Given the description of an element on the screen output the (x, y) to click on. 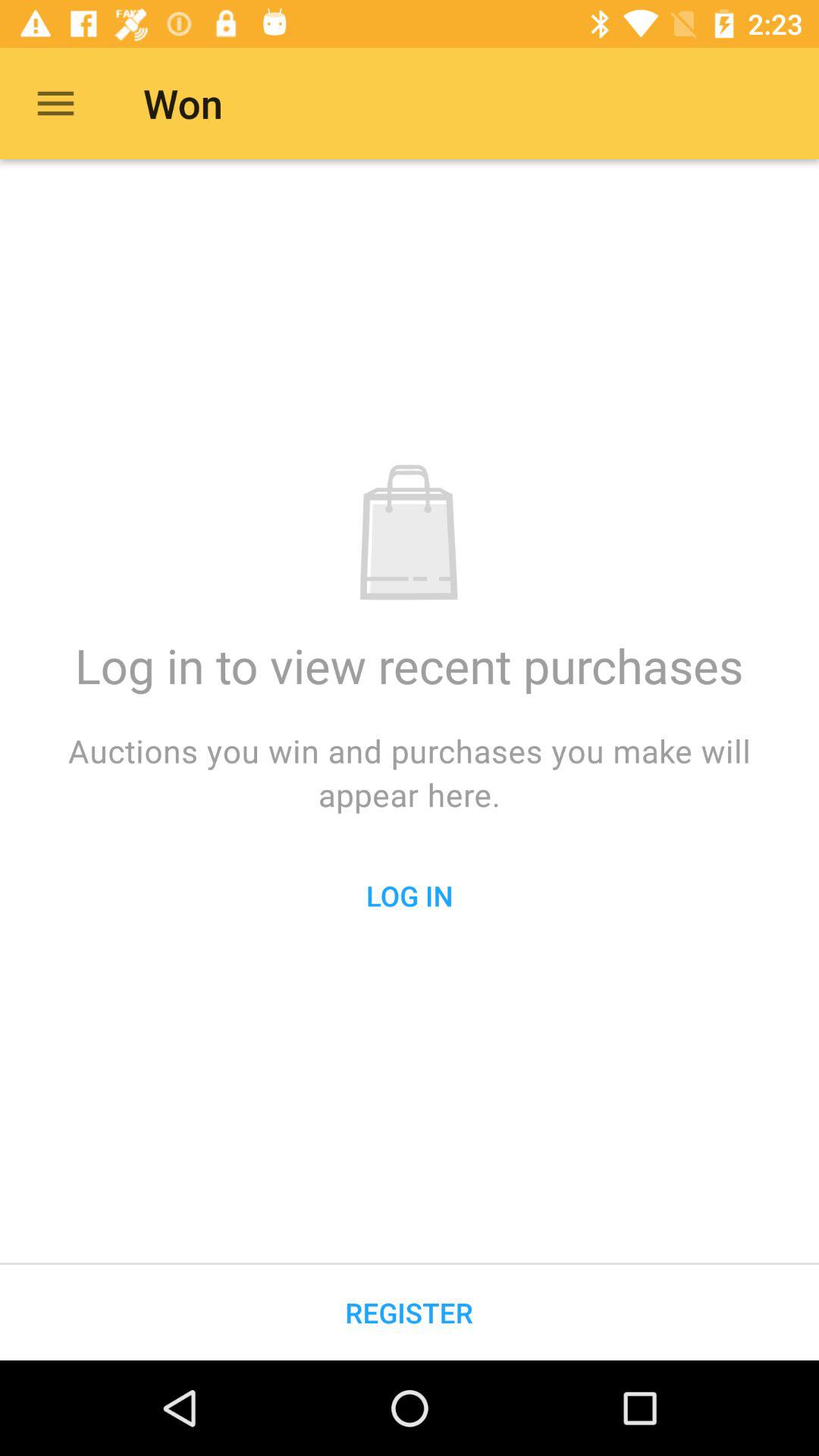
press the icon above the log in to (55, 103)
